Given the description of an element on the screen output the (x, y) to click on. 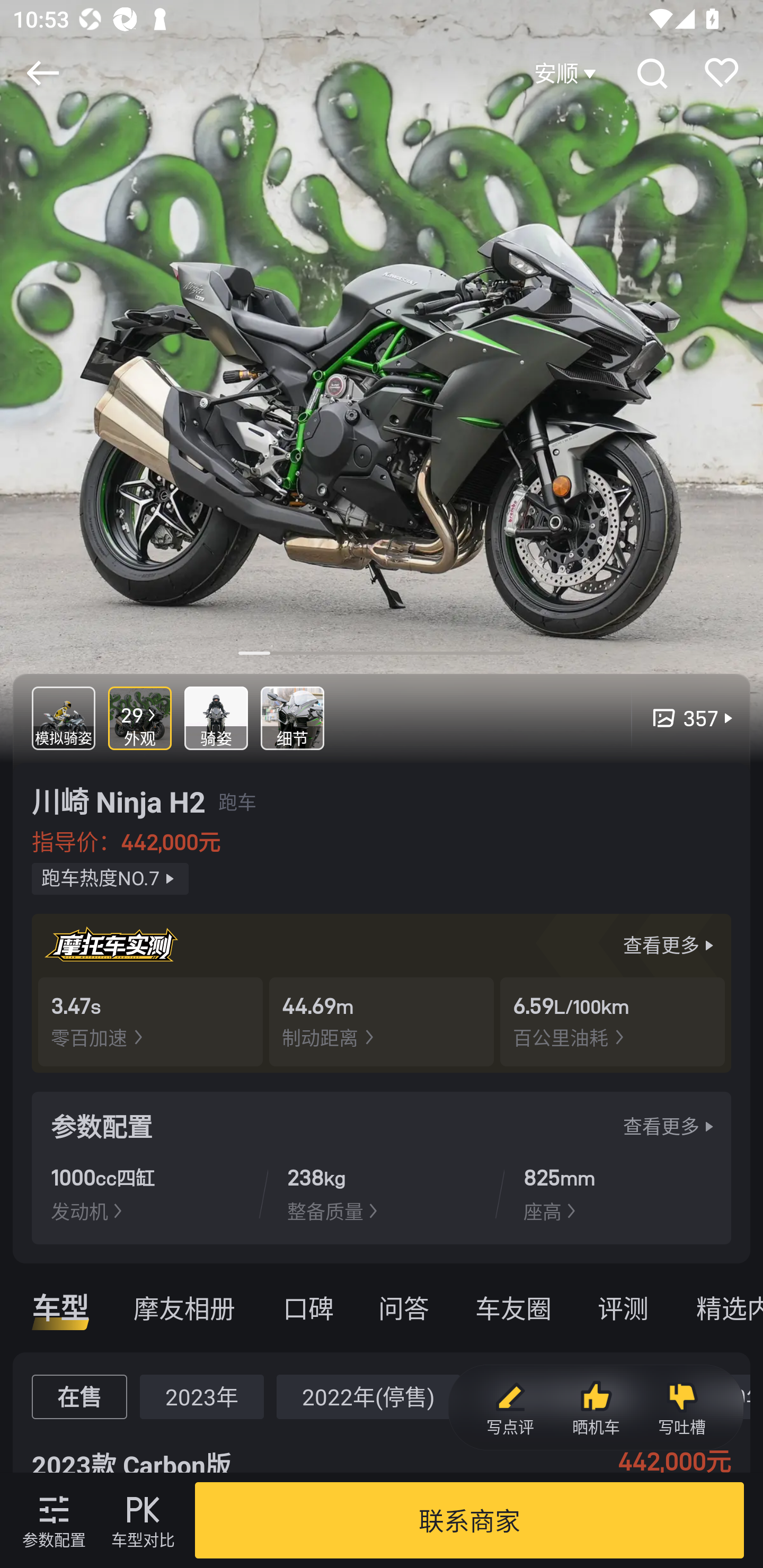
 (42, 72)
 (651, 72)
安顺 (567, 73)
模拟骑姿 (63, 717)
29  外观 (139, 717)
骑姿 (215, 717)
细节 (292, 717)
 357  (684, 717)
跑车热度NO.7  (110, 878)
3.47s 零百加速  (150, 1021)
44.69m 制动距离  (381, 1021)
6.59L/100km 百公里油耗  (612, 1021)
查看更多 (670, 1126)
1000cc四缸 发动机  (144, 1192)
238kg 整备质量  (380, 1192)
825mm 座高  (617, 1192)
摩友相册 (184, 1307)
口碑 (308, 1307)
问答 (403, 1307)
车友圈 (513, 1307)
评测 (622, 1307)
在售 (79, 1397)
2023年 (201, 1397)
2022年(停售) (368, 1397)
写点评 (510, 1407)
晒机车 (595, 1407)
写吐槽 (681, 1407)
参数配置 (53, 1520)
车型对比 (142, 1520)
联系商家 (469, 1519)
